Given the description of an element on the screen output the (x, y) to click on. 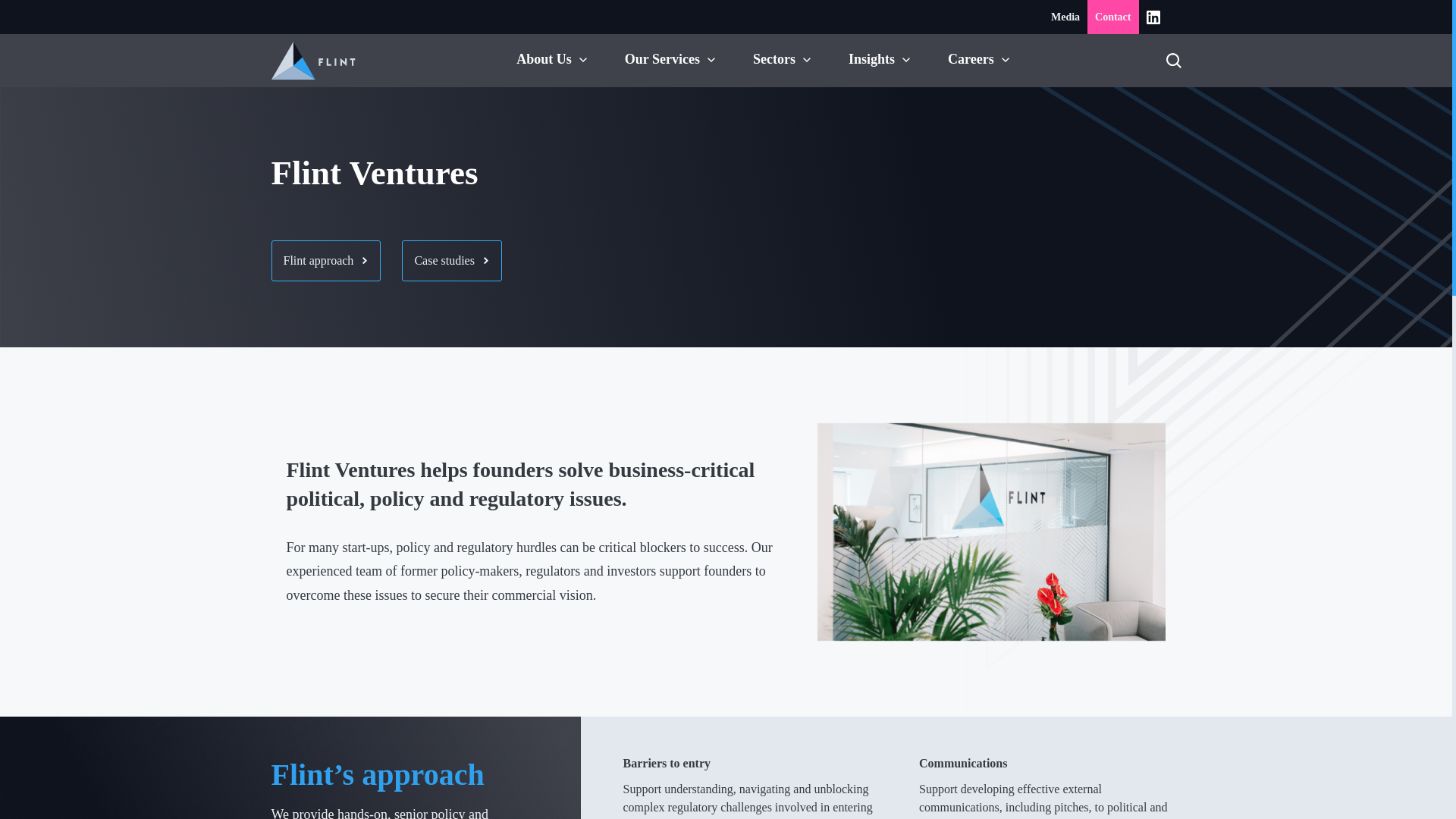
About Us (544, 59)
Our Services (662, 59)
Contact (1112, 17)
Media (1065, 17)
